Given the description of an element on the screen output the (x, y) to click on. 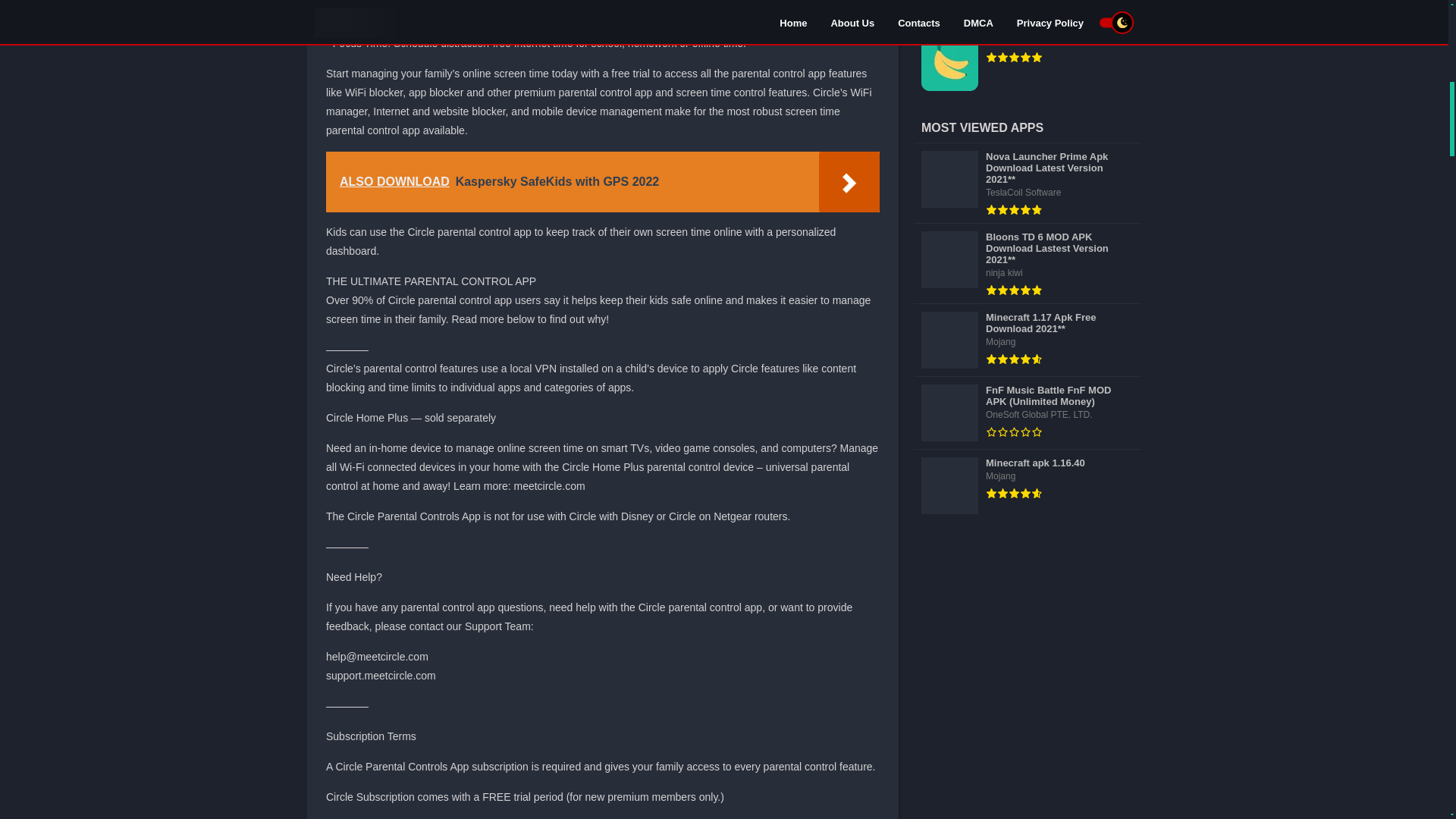
ALSO DOWNLOAD  Kaspersky SafeKids with GPS 2022 (602, 181)
